Given the description of an element on the screen output the (x, y) to click on. 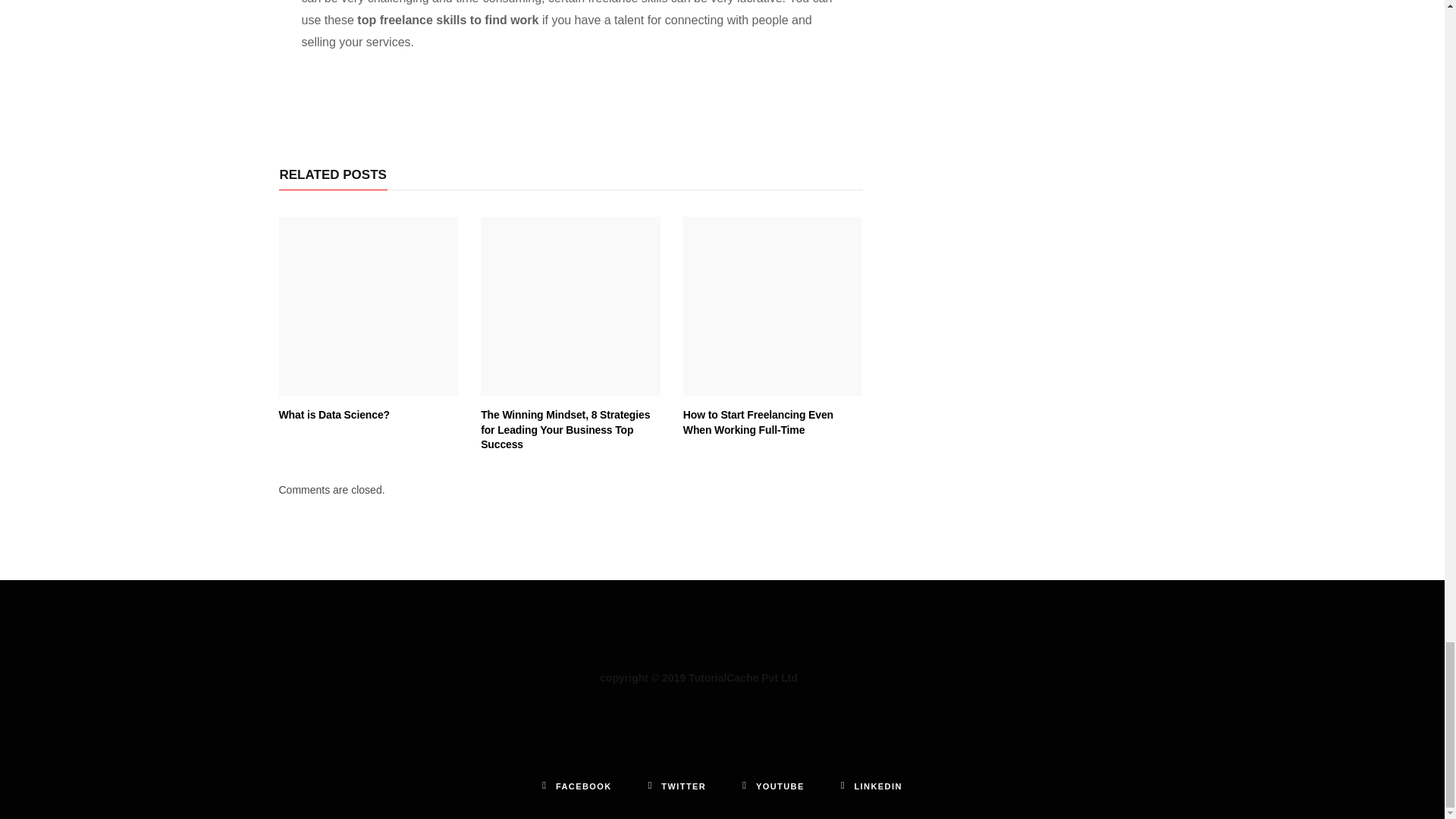
What is Data Science? (334, 414)
How to Start Freelancing Even When Working Full-Time (772, 306)
How to Start Freelancing Even When Working Full-Time (757, 421)
What is Data Science? (368, 306)
